Given the description of an element on the screen output the (x, y) to click on. 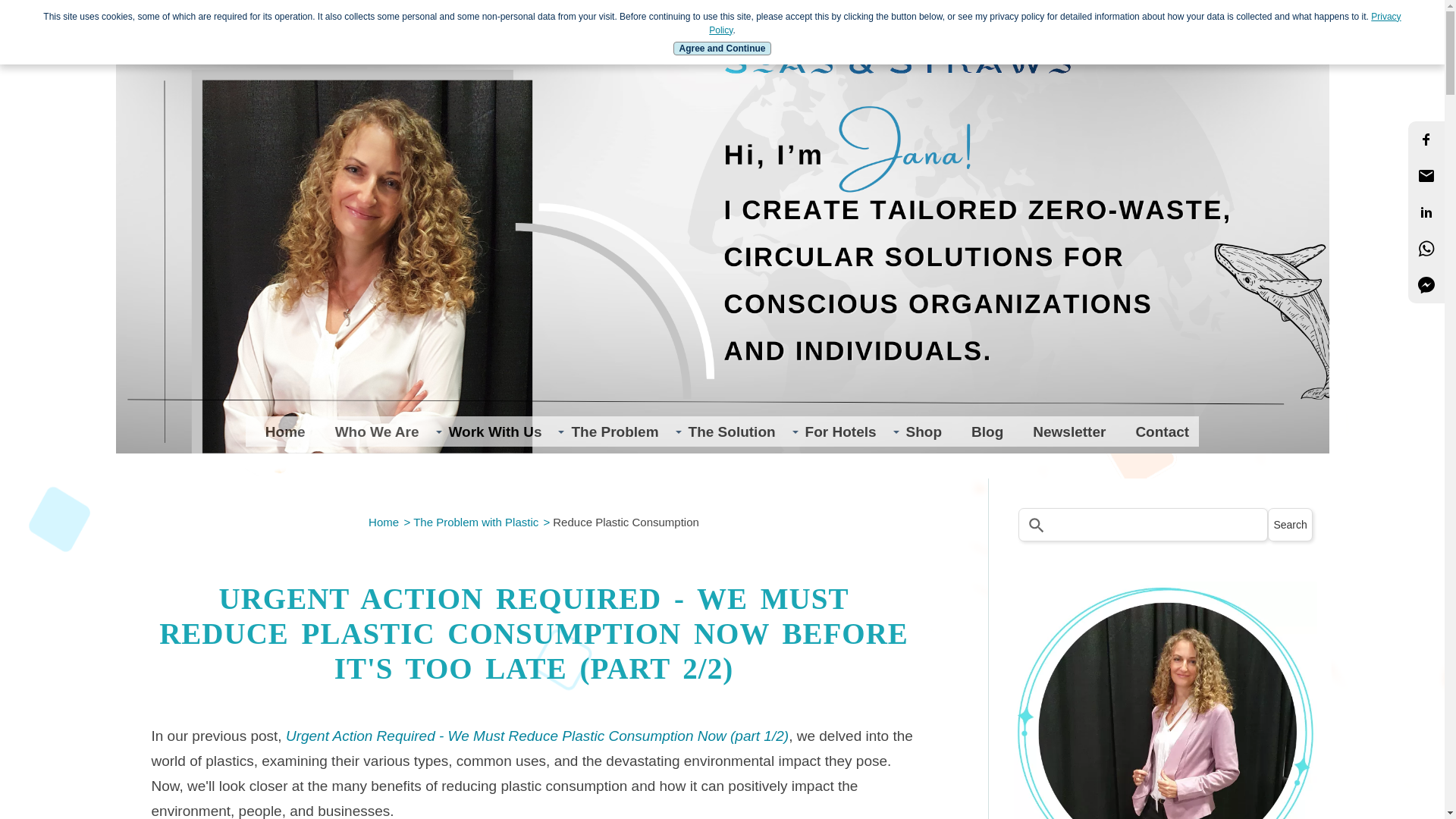
Newsletter (1064, 431)
The Problem with Plastic (475, 521)
Who We Are (372, 431)
Home (280, 431)
Contact (1156, 431)
Home (383, 521)
Blog (982, 431)
